Given the description of an element on the screen output the (x, y) to click on. 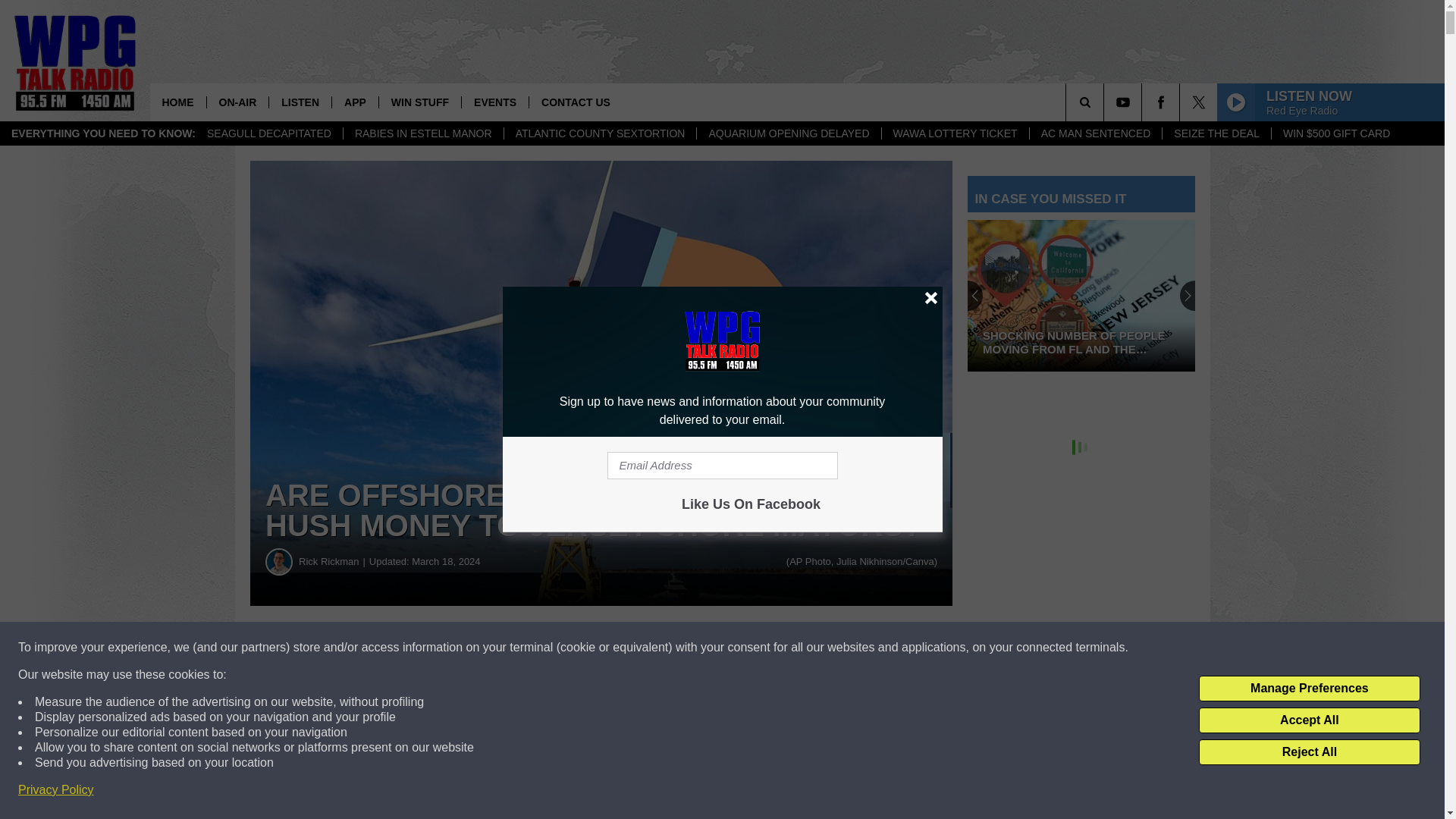
ON-AIR (237, 102)
Manage Preferences (1309, 688)
RABIES IN ESTELL MANOR (422, 133)
SEARCH (1106, 102)
Reject All (1309, 751)
SEAGULL DECAPITATED (268, 133)
APP (354, 102)
ATLANTIC COUNTY SEXTORTION (600, 133)
SEARCH (1106, 102)
SEIZE THE DEAL (1216, 133)
WIN STUFF (419, 102)
LISTEN (299, 102)
Share on Facebook (460, 647)
AQUARIUM OPENING DELAYED (787, 133)
AC MAN SENTENCED (1095, 133)
